Given the description of an element on the screen output the (x, y) to click on. 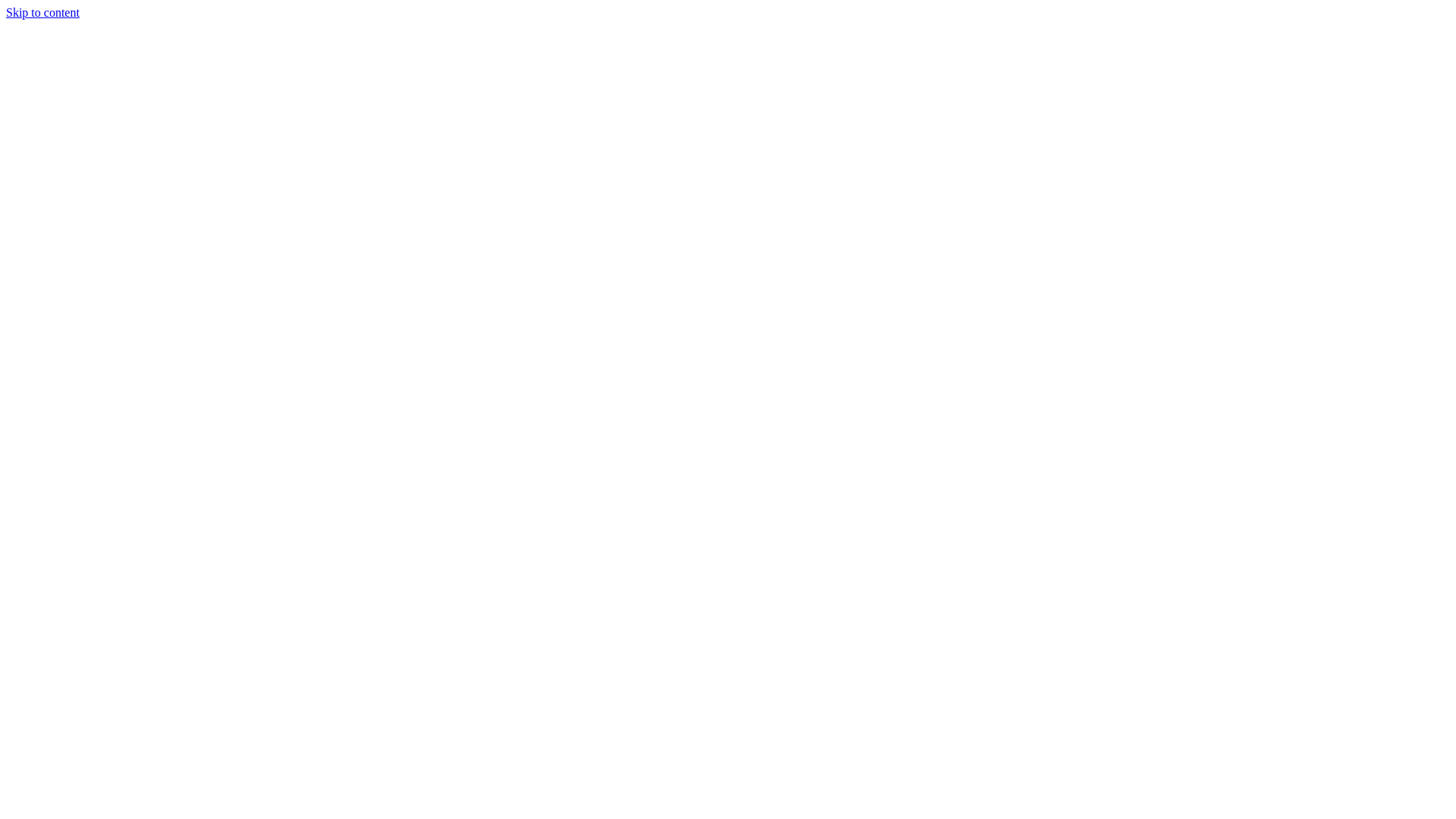
Skip to content Element type: text (42, 12)
